Given the description of an element on the screen output the (x, y) to click on. 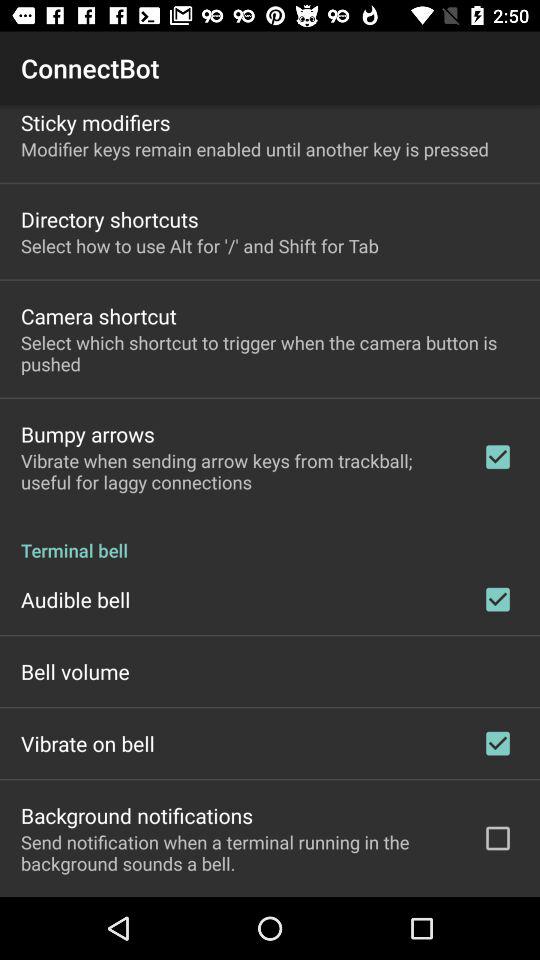
turn on item below terminal bell icon (75, 599)
